Given the description of an element on the screen output the (x, y) to click on. 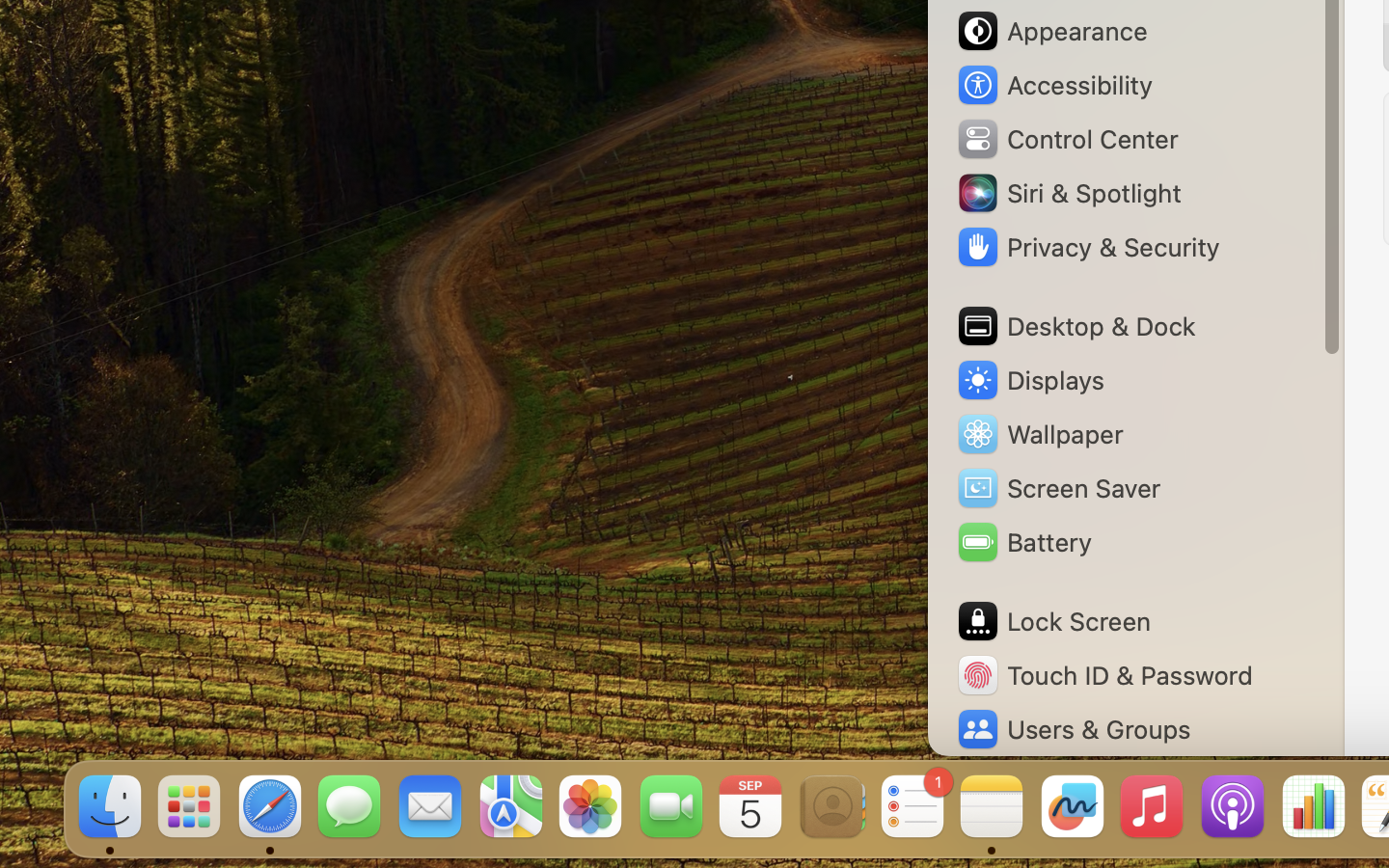
Accessibility Element type: AXStaticText (1053, 84)
Control Center Element type: AXStaticText (1066, 138)
Siri & Spotlight Element type: AXStaticText (1067, 192)
